Given the description of an element on the screen output the (x, y) to click on. 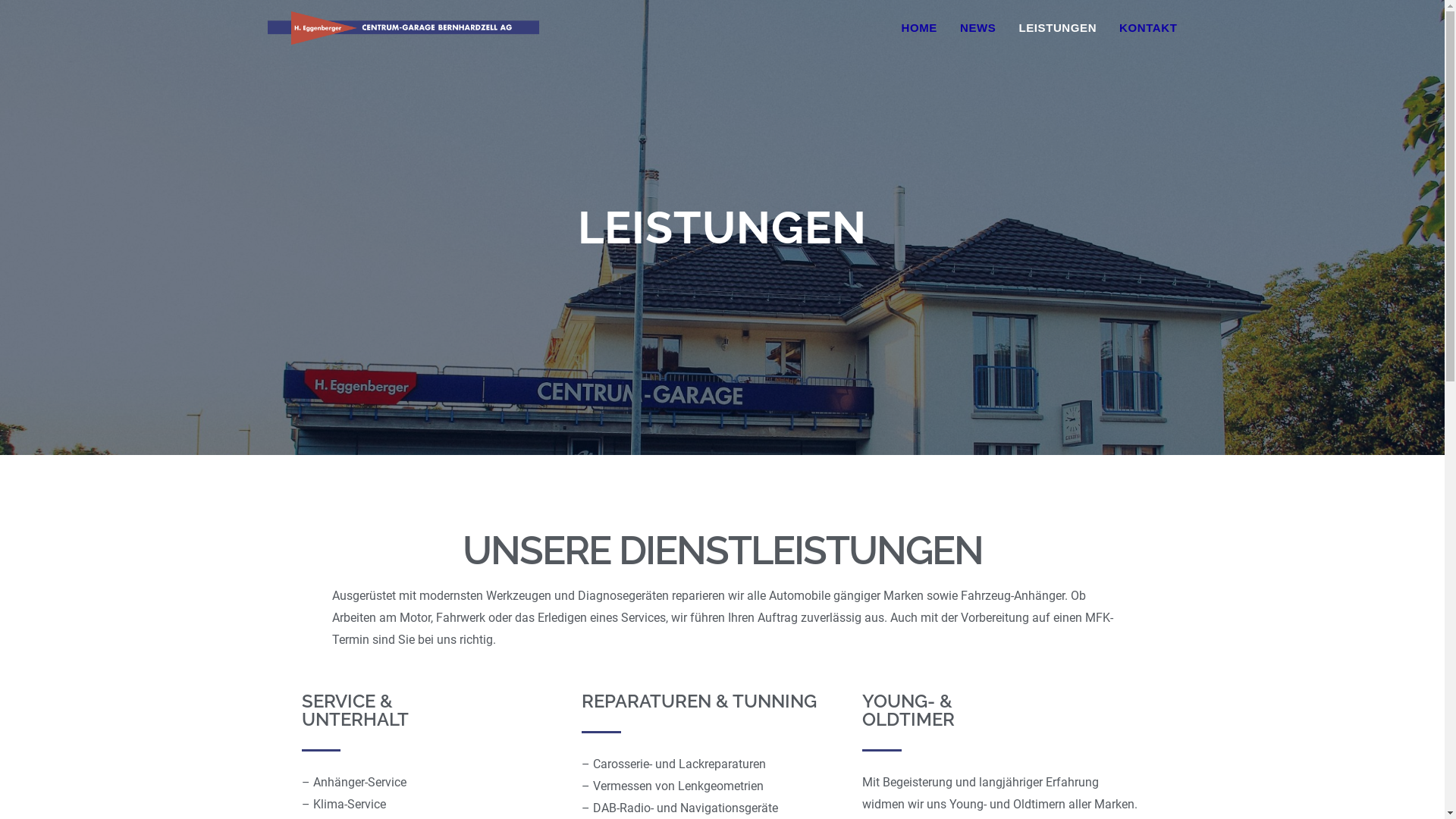
KONTAKT Element type: text (1147, 28)
NEWS Element type: text (977, 28)
LEISTUNGEN Element type: text (1057, 28)
HOME Element type: text (919, 28)
